Given the description of an element on the screen output the (x, y) to click on. 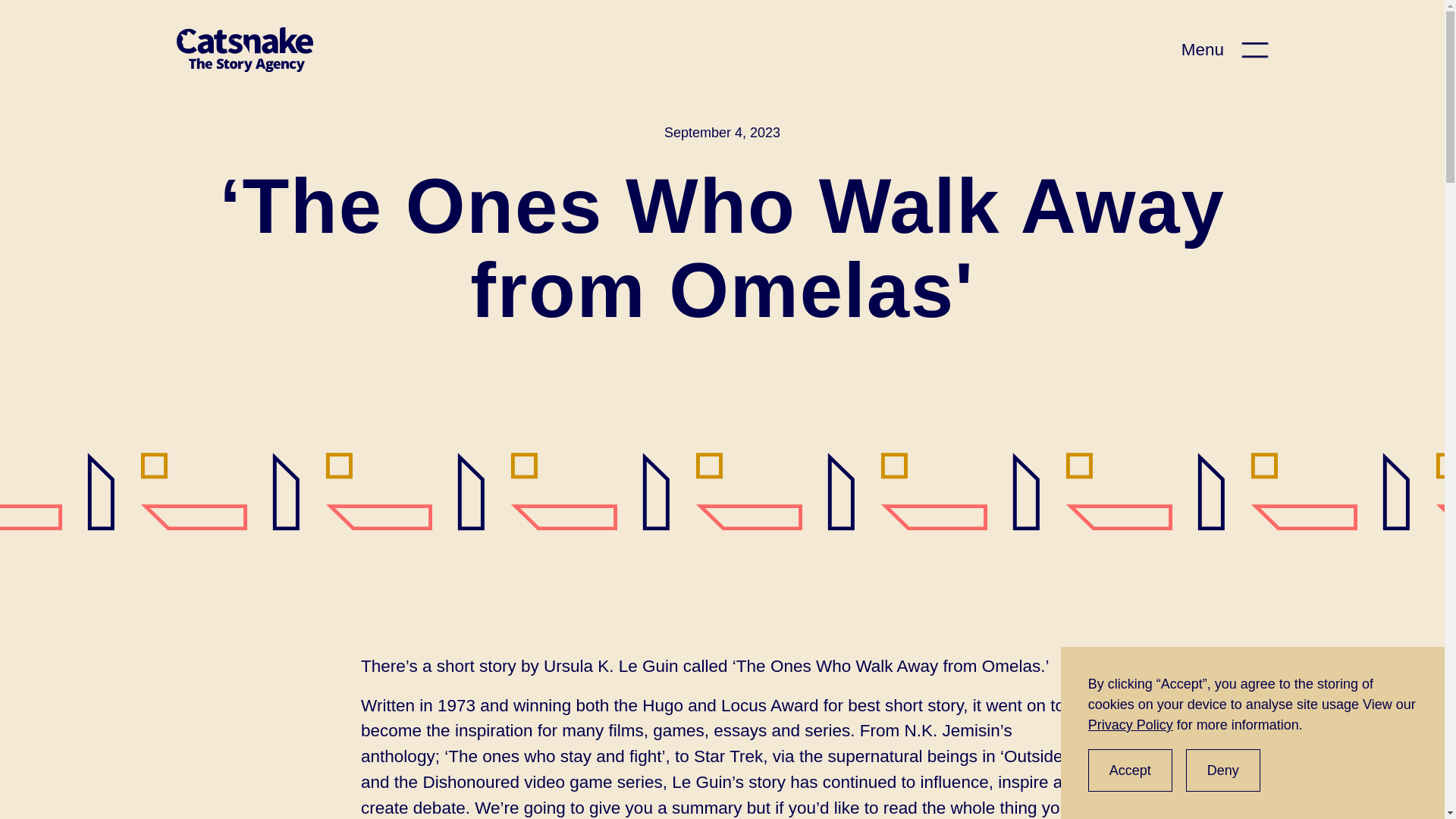
Privacy Policy (213, 741)
Accept (1129, 770)
Deny (1223, 770)
Our Clients (1192, 571)
Newsletter (879, 627)
Privacy Policy (1130, 724)
Cookie Policy (320, 741)
Our Team (1189, 639)
Our Work (1187, 606)
